Given the description of an element on the screen output the (x, y) to click on. 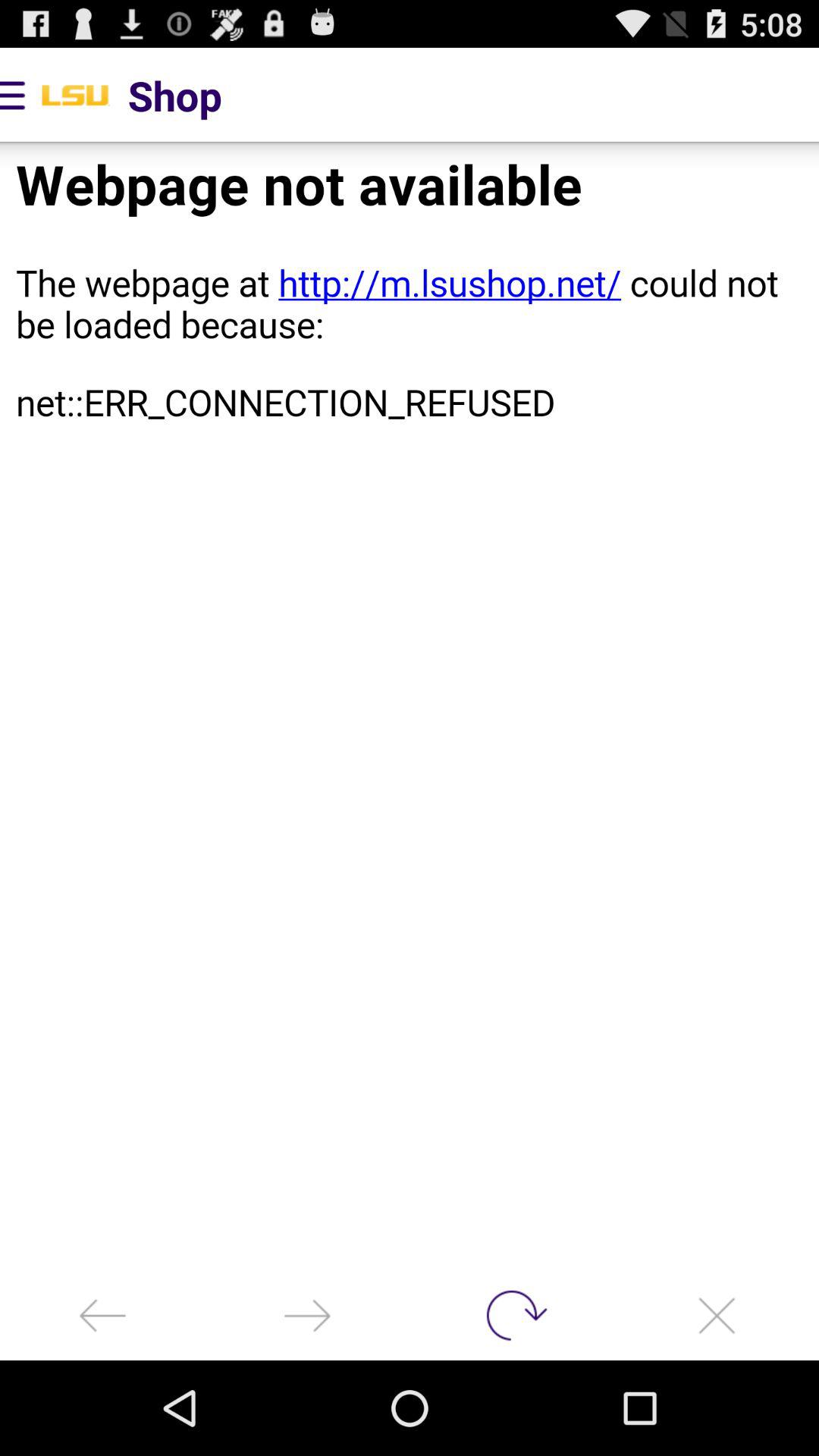
go forward (306, 1315)
